Given the description of an element on the screen output the (x, y) to click on. 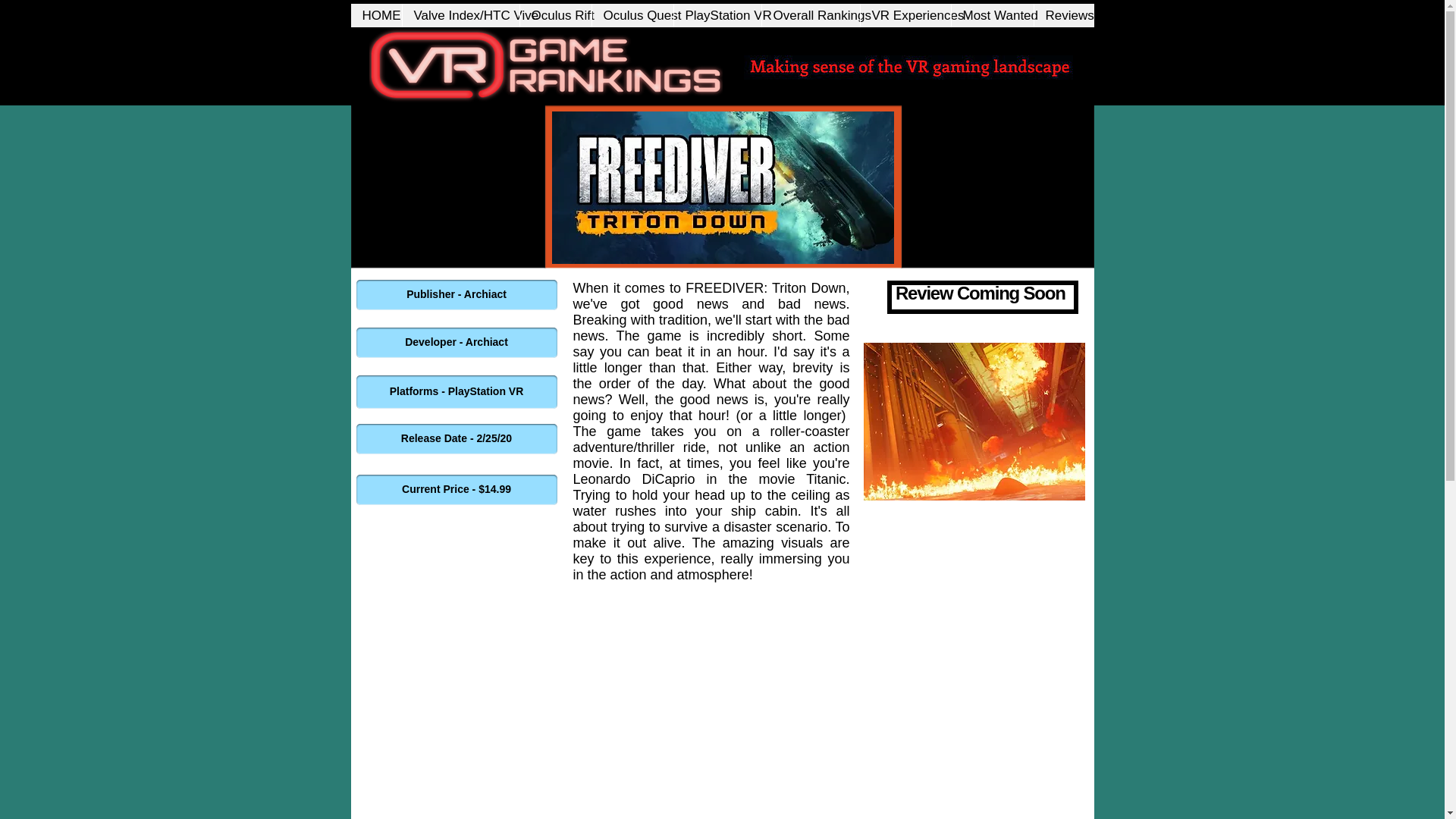
HOME (375, 15)
PlayStation VR (716, 15)
External YouTube (711, 712)
Oculus Rift (554, 15)
Oculus Quest (631, 15)
Overall Rankings (810, 15)
